Given the description of an element on the screen output the (x, y) to click on. 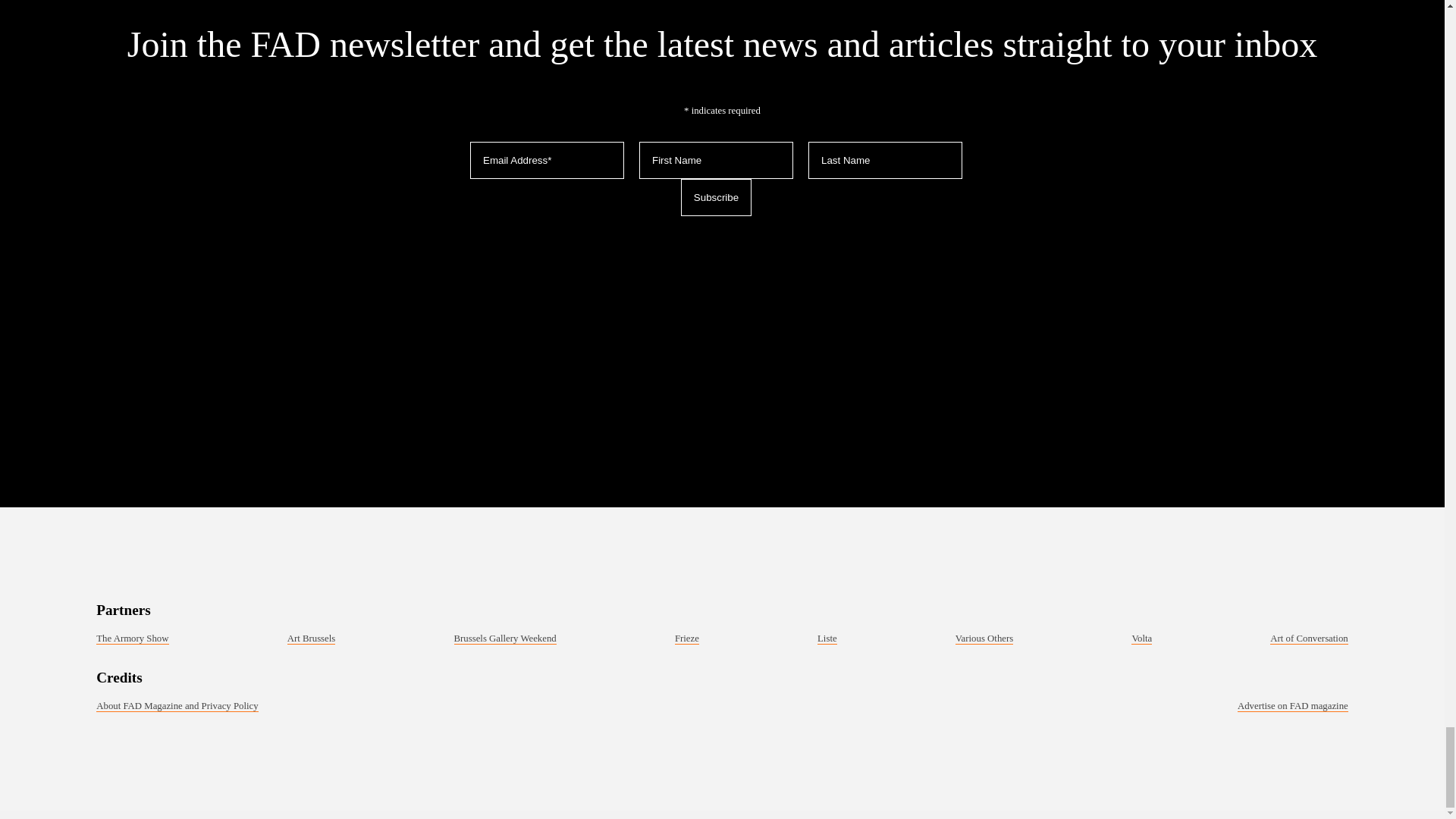
Subscribe (716, 197)
First Name (716, 160)
Last Name (885, 160)
